Given the description of an element on the screen output the (x, y) to click on. 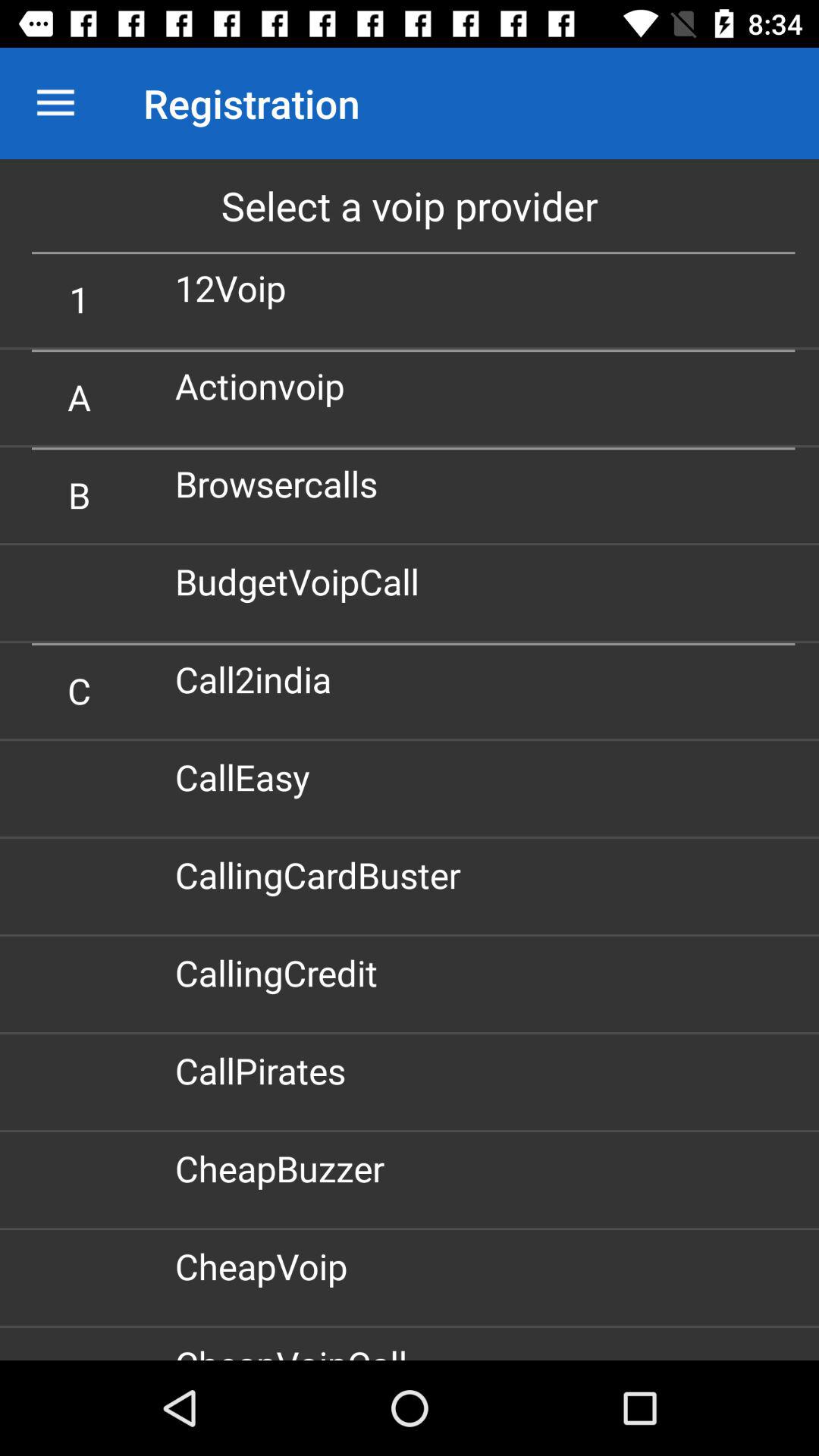
click 12voip (236, 287)
